Given the description of an element on the screen output the (x, y) to click on. 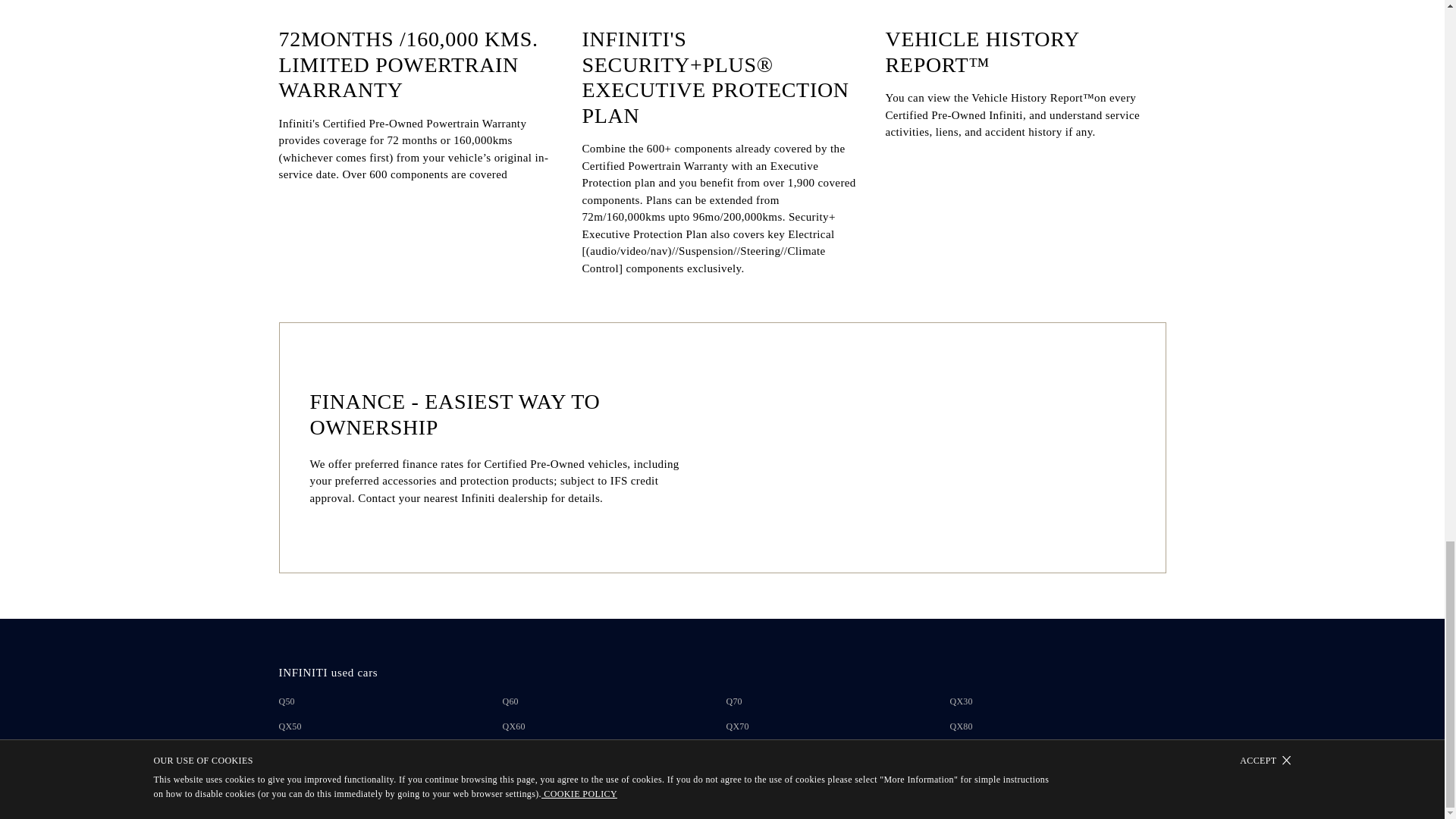
What is INFINITI Certified Pre-Owned? (616, 798)
QX60 (521, 726)
QX70 (745, 726)
Q60 (517, 700)
INFINITI Certified Pre-Owned (346, 798)
QX50 (298, 726)
QX80 (968, 726)
Q60 (517, 700)
Q70 (741, 700)
QX60 (521, 726)
